Given the description of an element on the screen output the (x, y) to click on. 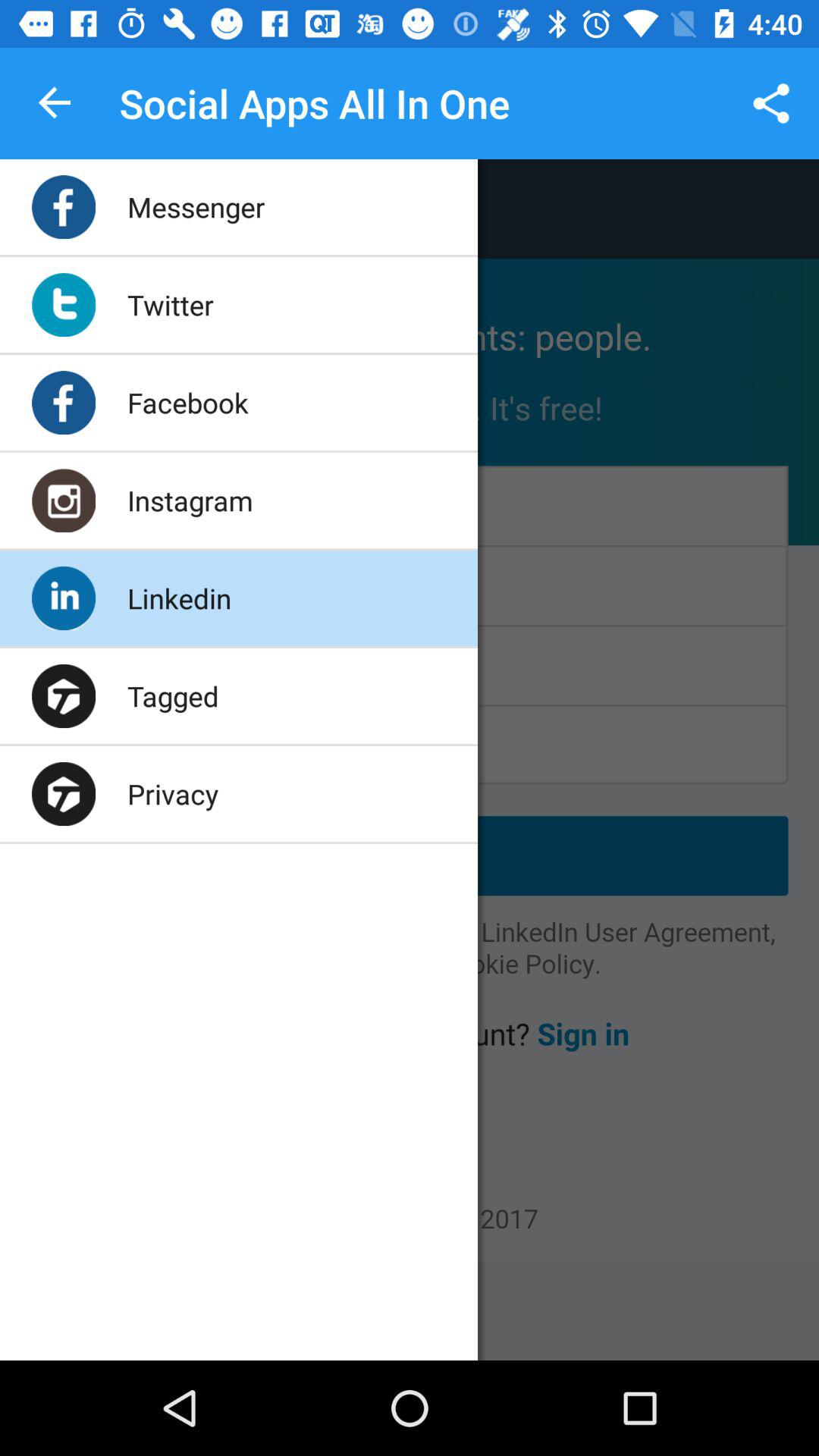
swipe until messenger item (196, 206)
